Given the description of an element on the screen output the (x, y) to click on. 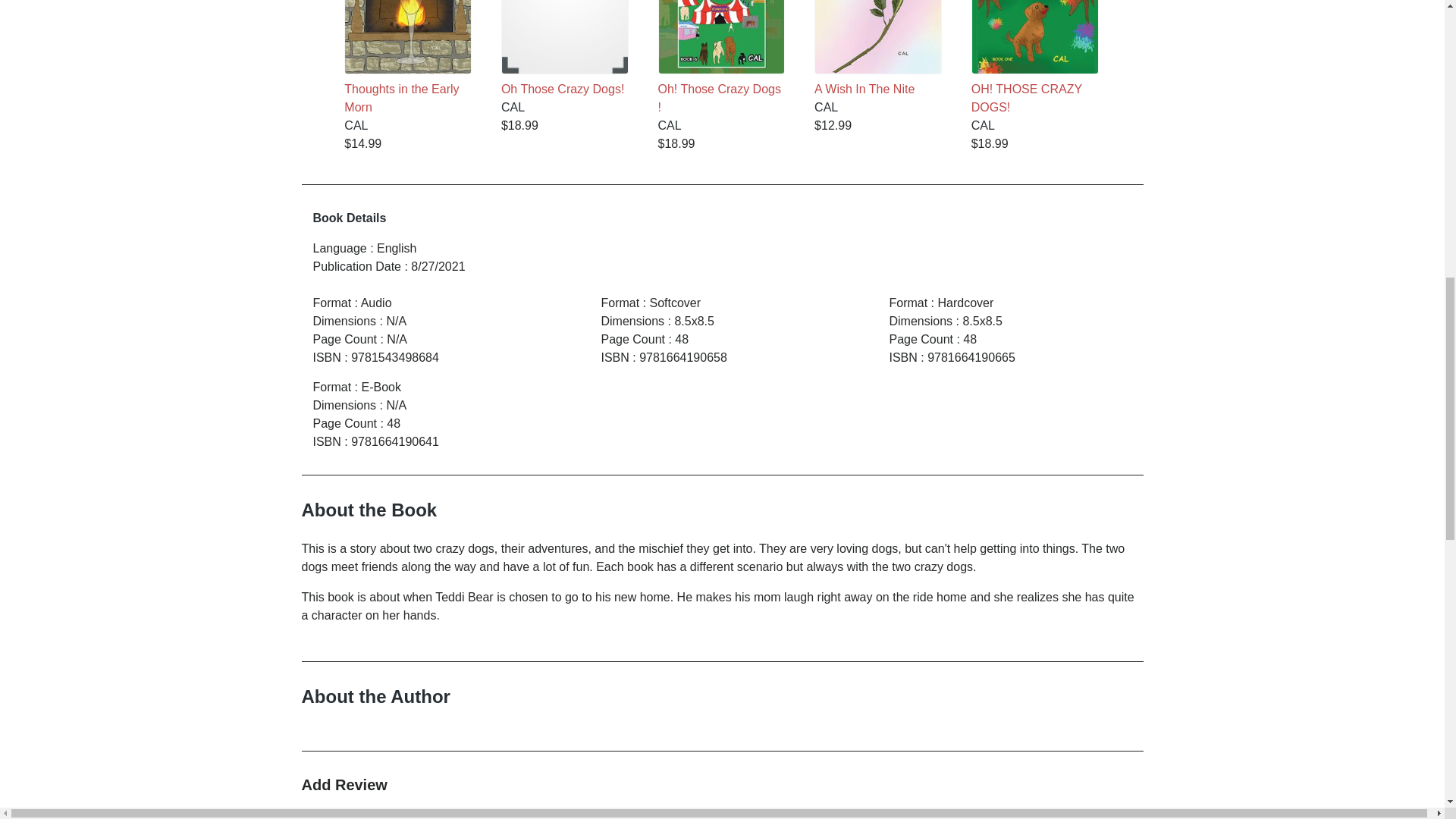
Oh! Those Crazy Dogs ! (722, 58)
OH! THOSE CRAZY DOGS! (1035, 58)
Thoughts in the Early Morn (407, 58)
Oh Those Crazy Dogs! (564, 49)
A Wish In The Nite (877, 49)
